Given the description of an element on the screen output the (x, y) to click on. 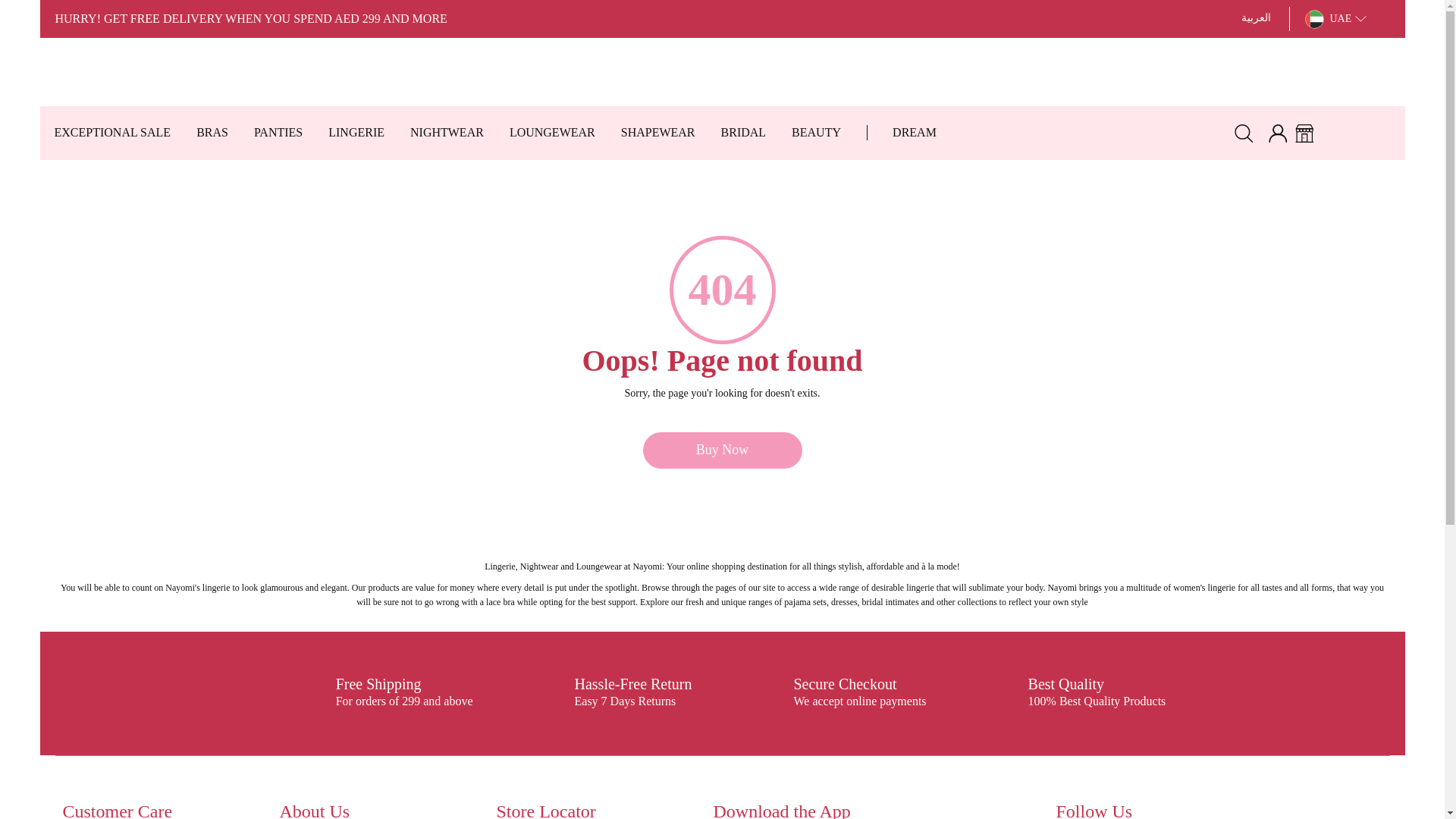
BRAS (211, 132)
EXCEPTIONAL SALE (110, 132)
